Given the description of an element on the screen output the (x, y) to click on. 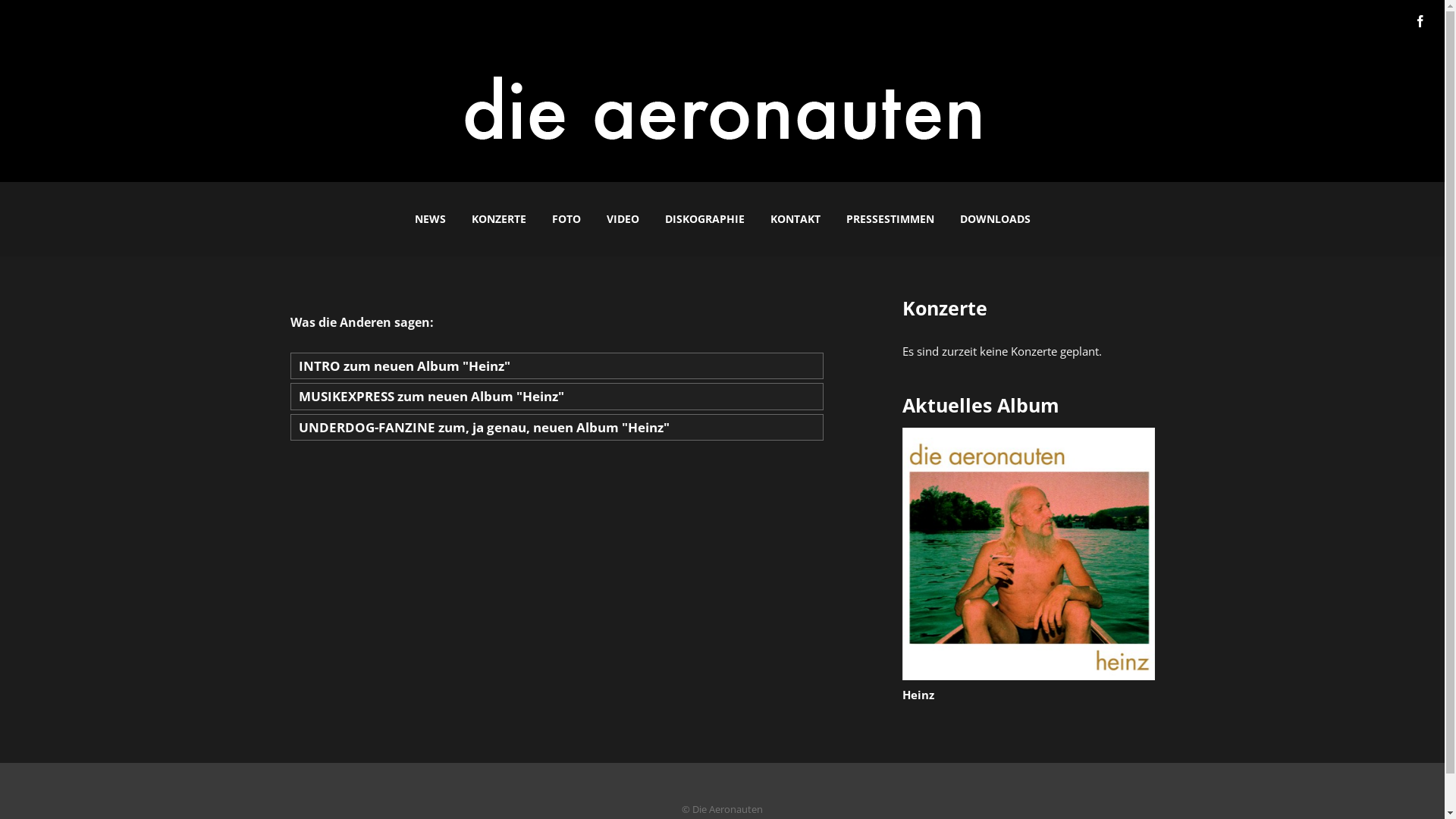
DISKOGRAPHIE Element type: text (704, 219)
INTRO zum neuen Album "Heinz" Element type: text (556, 366)
UNDERDOG-FANZINE zum, ja genau, neuen Album "Heinz" Element type: text (556, 427)
PRESSESTIMMEN Element type: text (889, 219)
Facebook Element type: hover (1420, 21)
FOTO Element type: text (565, 219)
KONTAKT Element type: text (794, 219)
DOWNLOADS Element type: text (994, 219)
VIDEO Element type: text (621, 219)
KONZERTE Element type: text (497, 219)
NEWS Element type: text (430, 219)
MUSIKEXPRESS zum neuen Album "Heinz" Element type: text (556, 396)
Heinz Element type: text (918, 694)
